Given the description of an element on the screen output the (x, y) to click on. 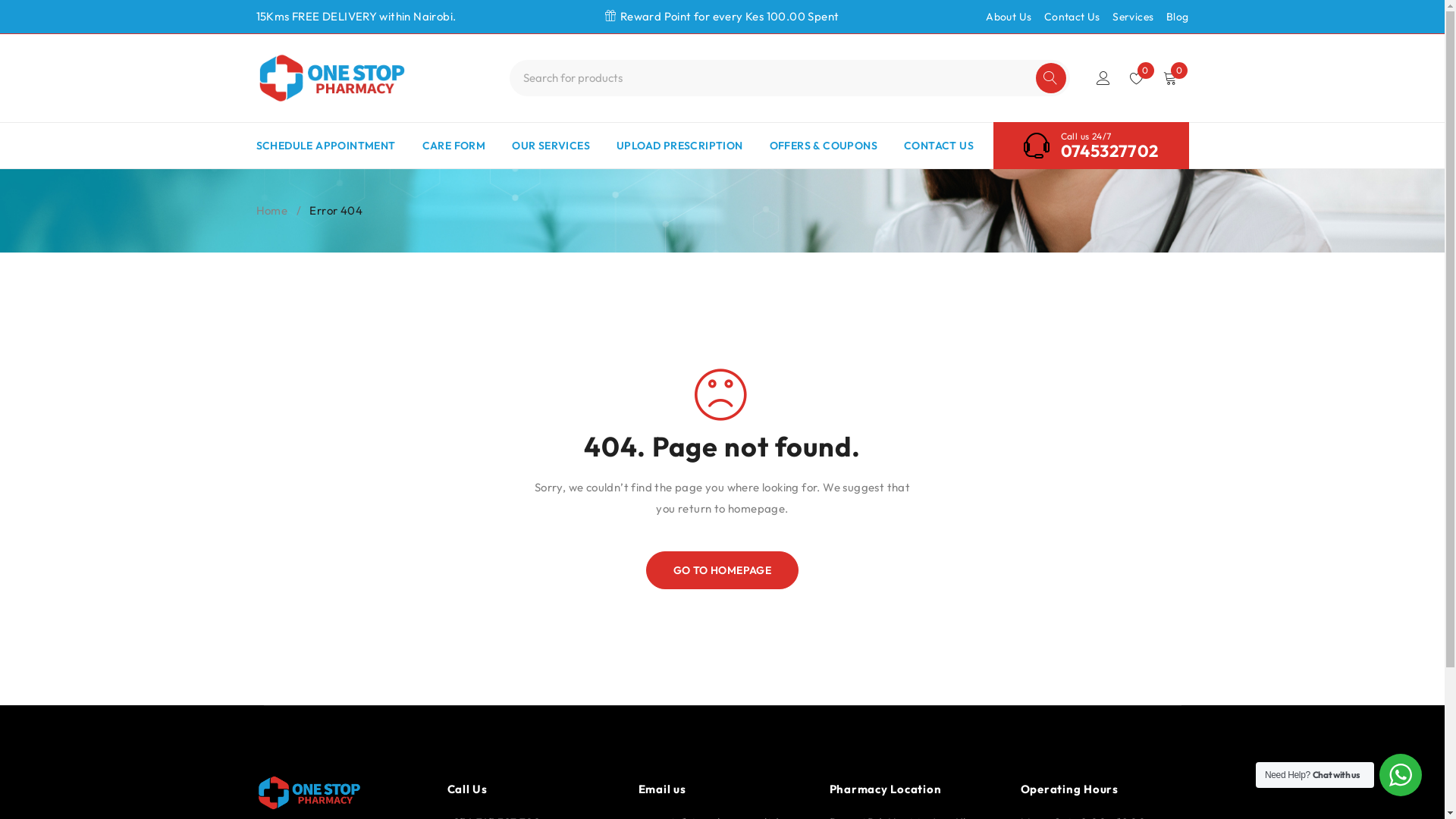
OUR SERVICES Element type: text (550, 145)
CARE FORM Element type: text (453, 145)
GO TO HOMEPAGE Element type: text (722, 570)
Login/Register Element type: text (1103, 77)
SCHEDULE APPOINTMENT Element type: text (325, 145)
UPLOAD PRESCRIPTION Element type: text (679, 145)
About Us Element type: text (1008, 16)
Blog Element type: text (1177, 16)
Search Element type: hover (1050, 77)
Search Element type: text (1050, 77)
0745327702 Element type: text (1108, 150)
0 Element type: text (1136, 77)
Contact Us Element type: text (1072, 16)
Services Element type: text (1132, 16)
0 Element type: text (1168, 77)
OFFERS & COUPONS Element type: text (823, 145)
OneStop Pharmacy Element type: hover (331, 77)
CONTACT US Element type: text (938, 145)
Home Element type: text (272, 210)
